Given the description of an element on the screen output the (x, y) to click on. 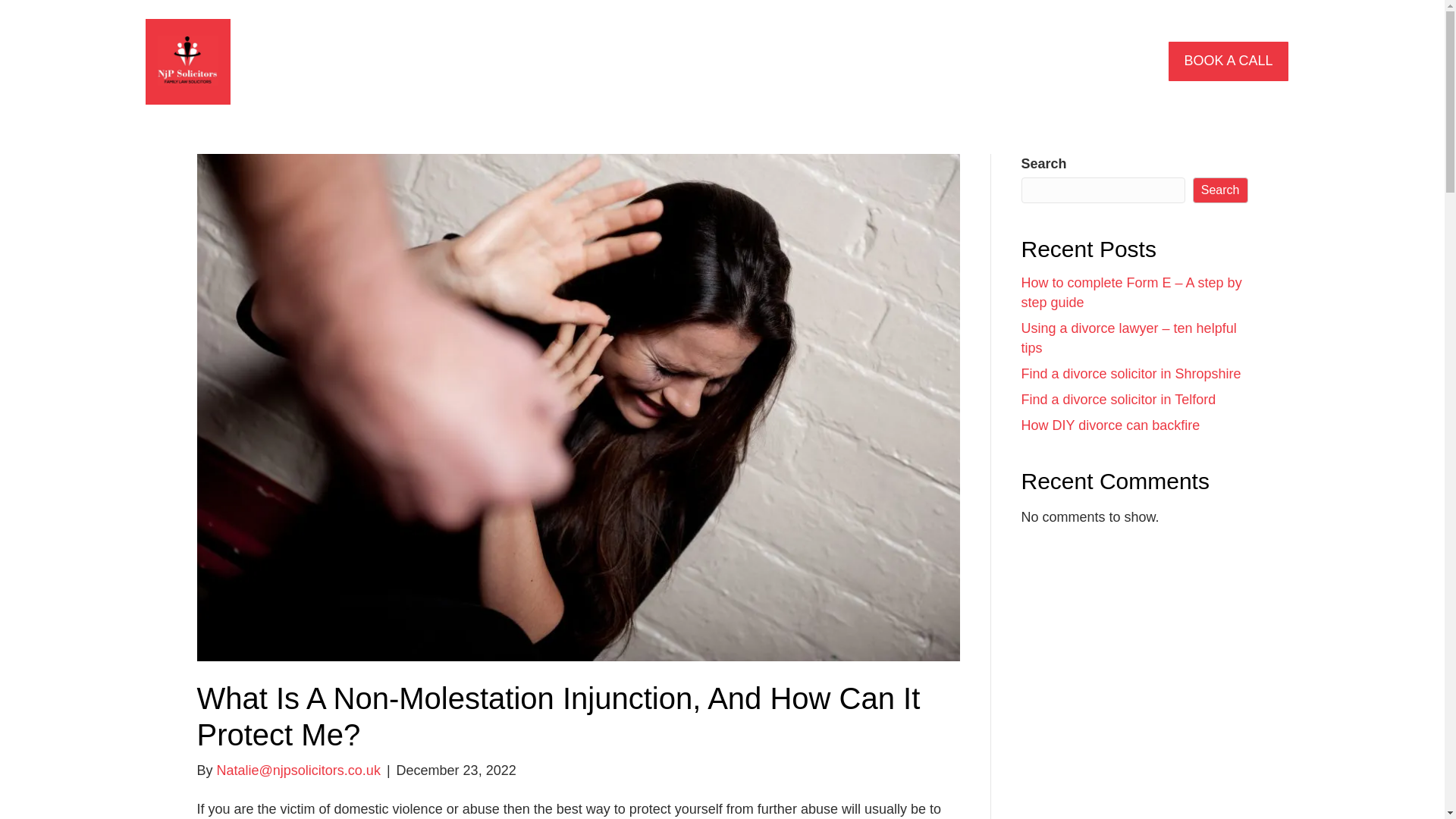
BOOK A CALL (1228, 61)
How DIY divorce can backfire (1109, 425)
Search (1219, 190)
Find a divorce solicitor in Telford (1117, 399)
NJP social media (188, 61)
Find a divorce solicitor in Shropshire (1130, 373)
